Given the description of an element on the screen output the (x, y) to click on. 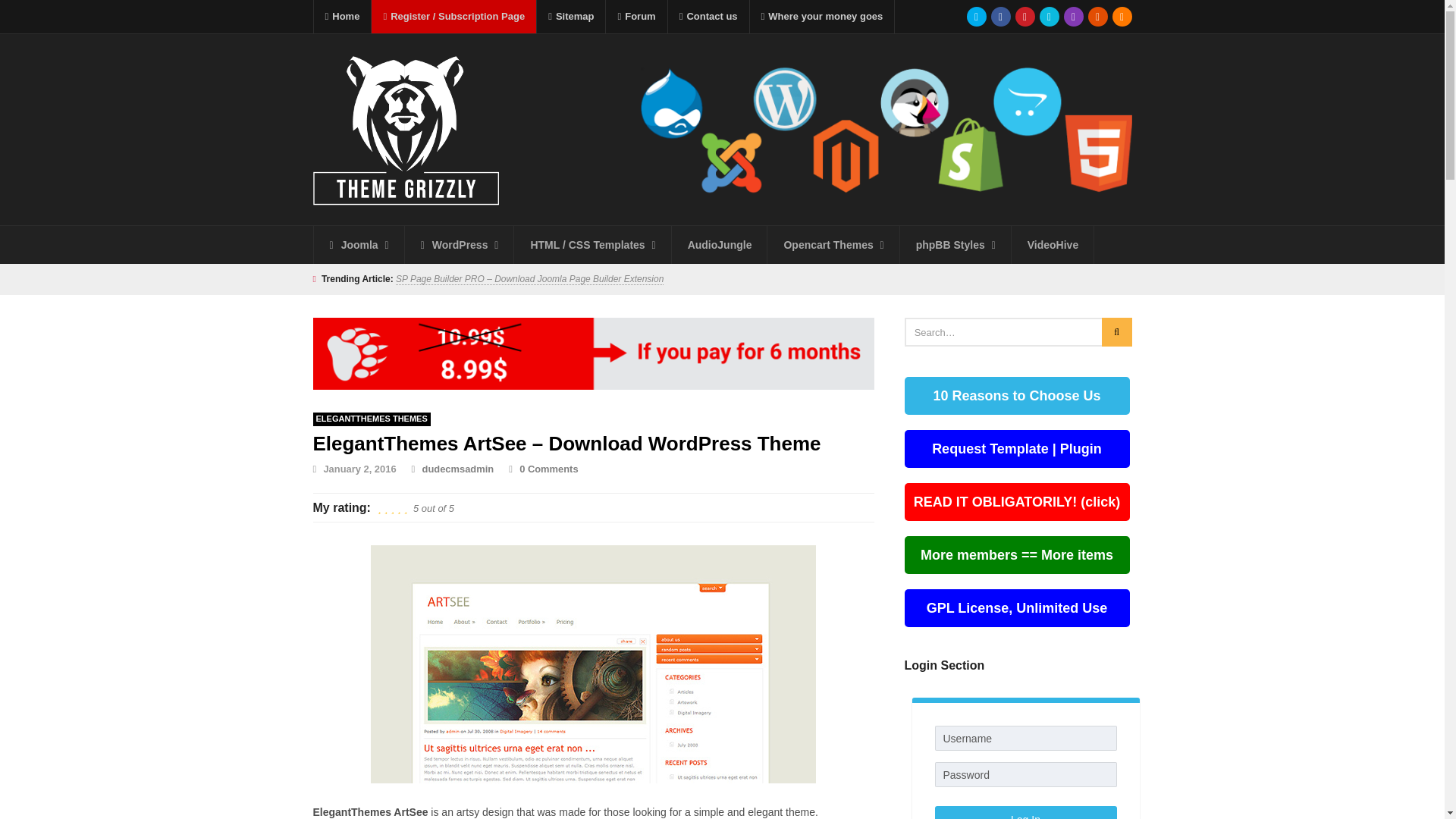
ThemeGrizzly.com (885, 97)
Twitter (975, 16)
Joomla (359, 244)
Pinterest (1023, 16)
Where your money goes (822, 16)
Log In (1025, 812)
Sitemap (571, 16)
Contact us (708, 16)
ThemeGrizzly.com (885, 162)
Email (1096, 16)
ElegantThemes Themes (371, 418)
Home (343, 16)
Forum (635, 16)
RSS (1121, 16)
Facebook (1000, 16)
